Given the description of an element on the screen output the (x, y) to click on. 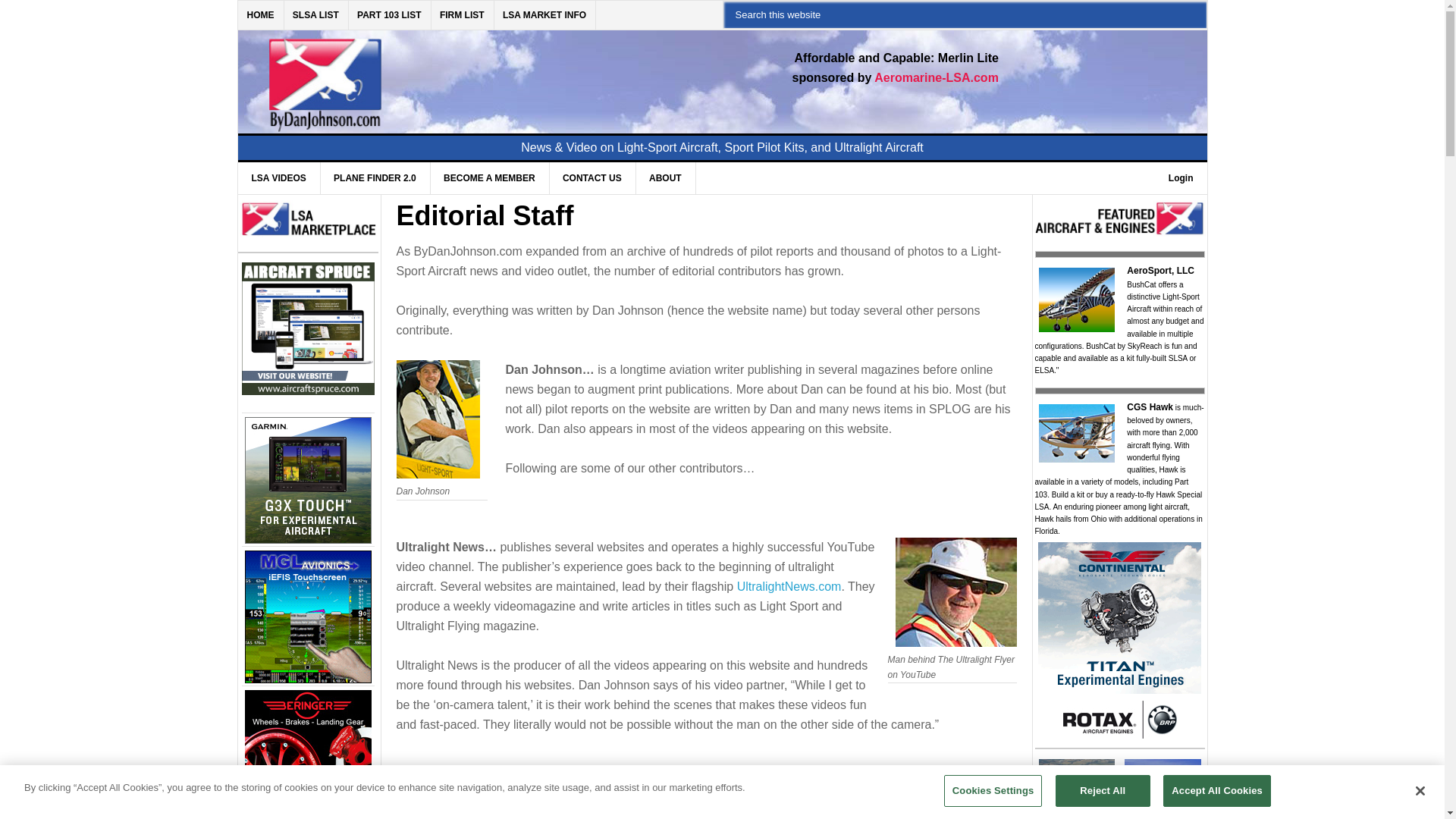
HOME (260, 14)
BECOME A MEMBER (488, 178)
BYDANJOHNSON.COM (469, 73)
CONTACT US (592, 178)
SLSA LIST (316, 14)
Login (1180, 178)
PART 103 LIST (388, 14)
